Given the description of an element on the screen output the (x, y) to click on. 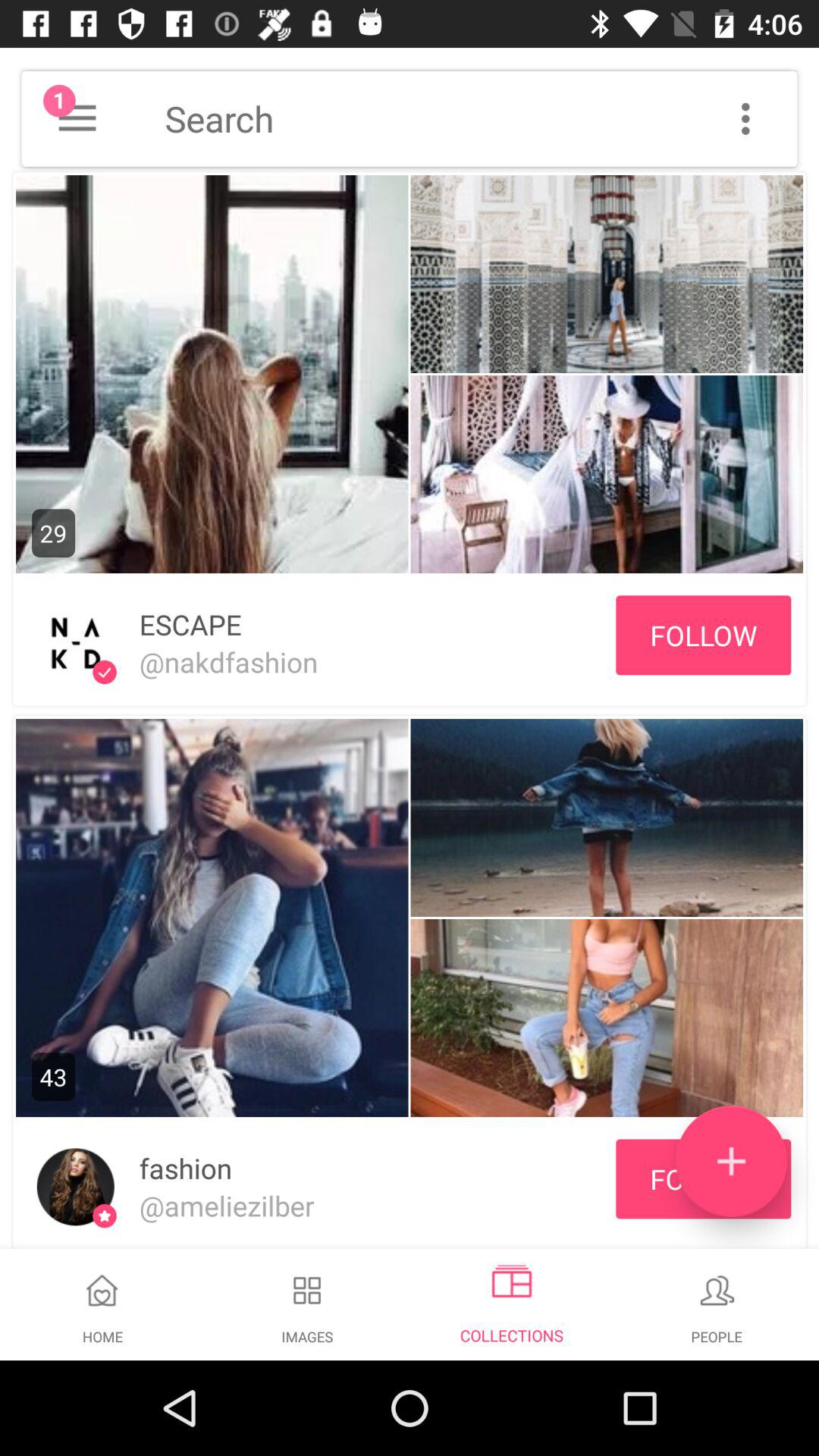
more options menu (745, 118)
